Given the description of an element on the screen output the (x, y) to click on. 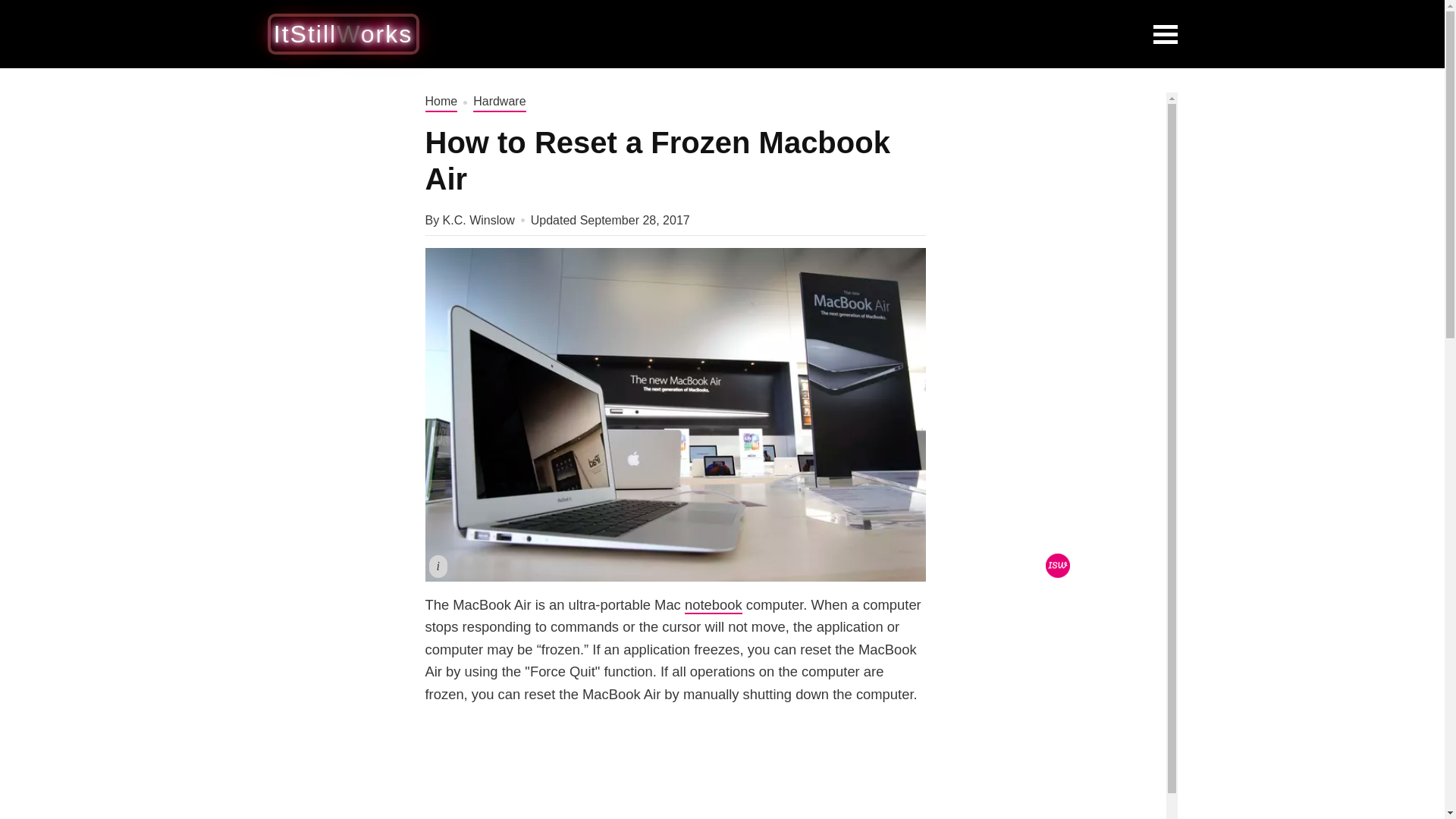
Home (441, 102)
notebook (713, 605)
Hardware (499, 102)
ItStillWorks (342, 33)
